Given the description of an element on the screen output the (x, y) to click on. 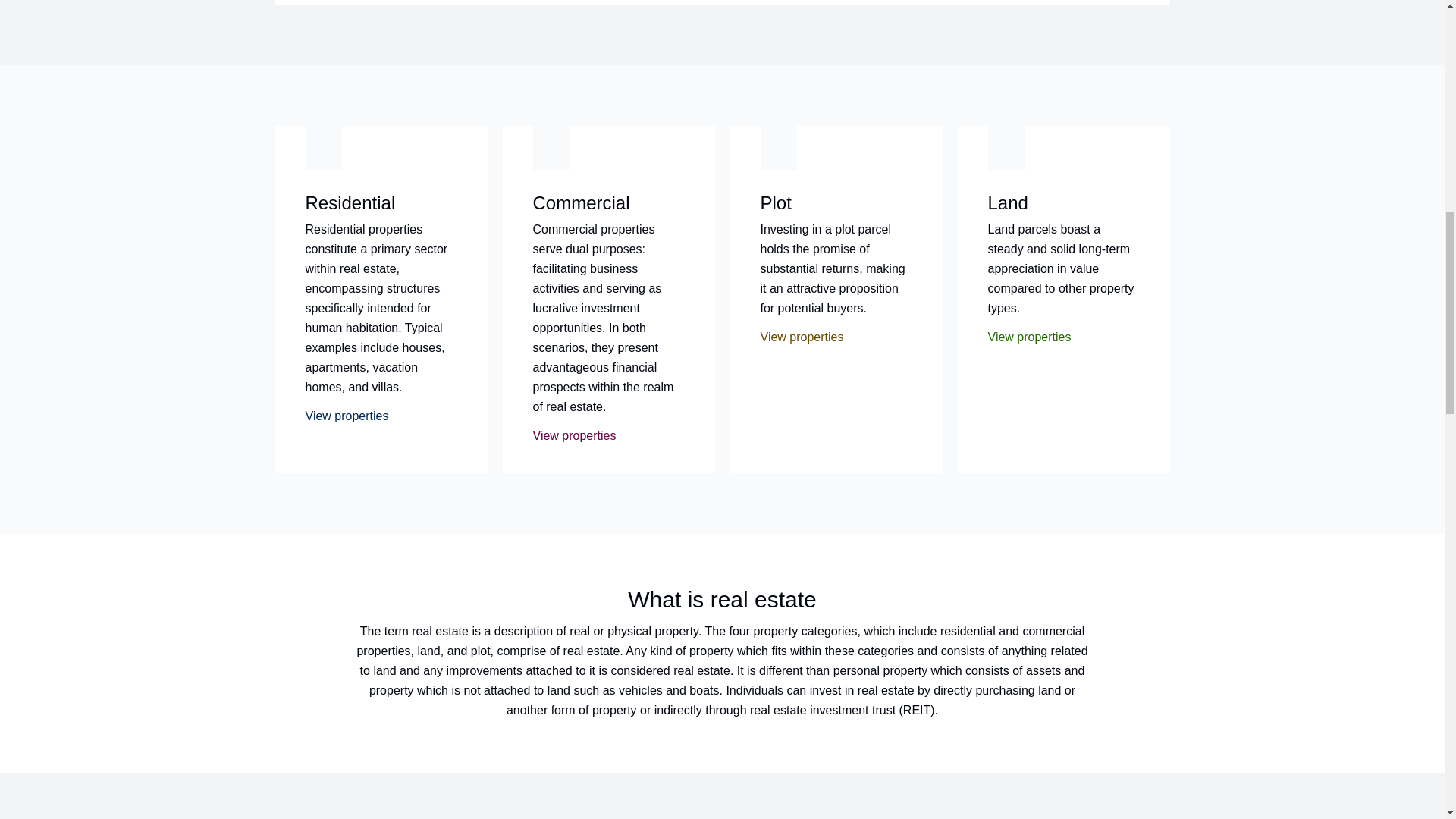
View properties (577, 436)
View properties (805, 336)
View properties (350, 416)
View properties (1032, 336)
